Given the description of an element on the screen output the (x, y) to click on. 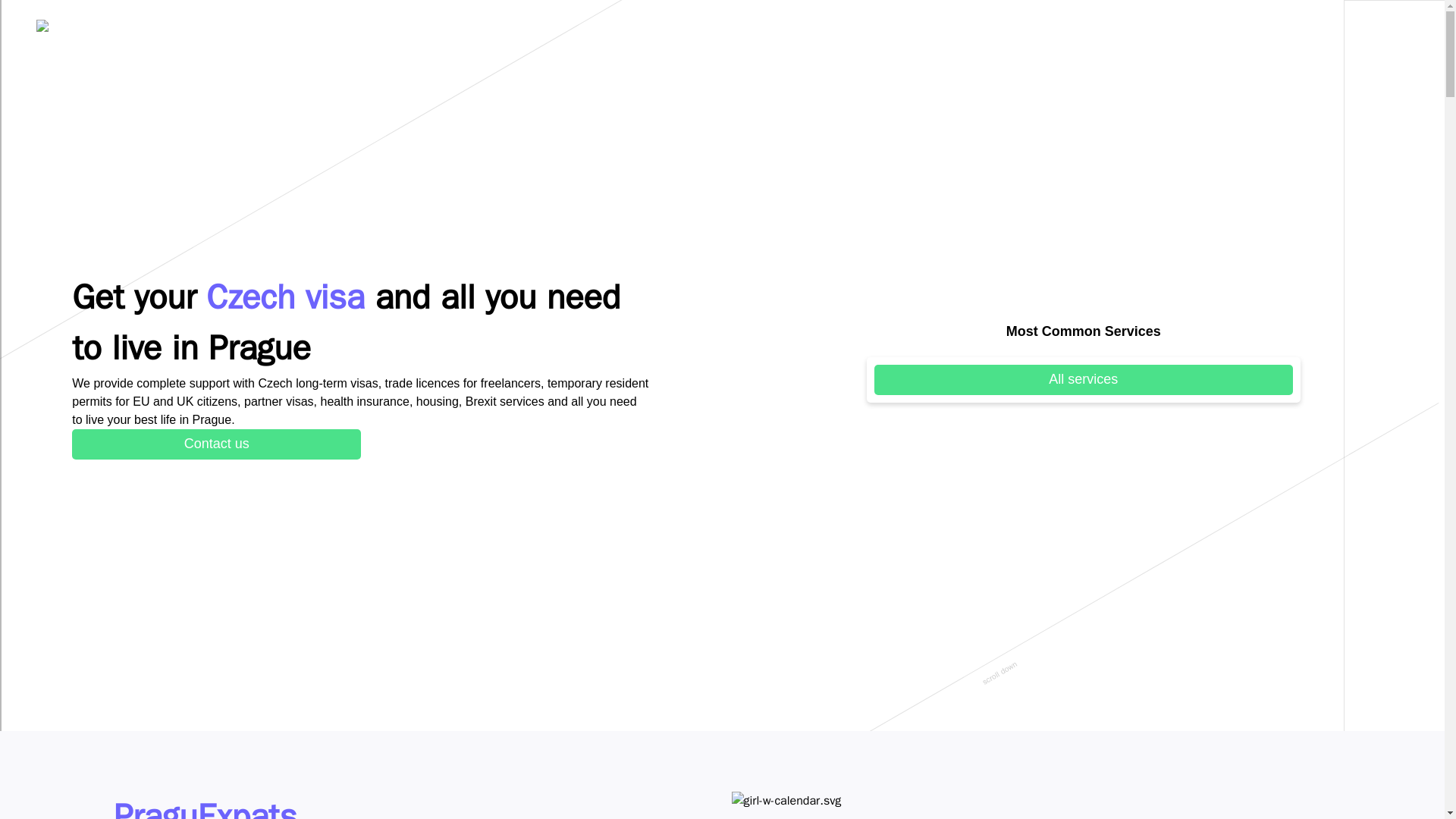
Contact us (216, 444)
All services (1083, 378)
